Given the description of an element on the screen output the (x, y) to click on. 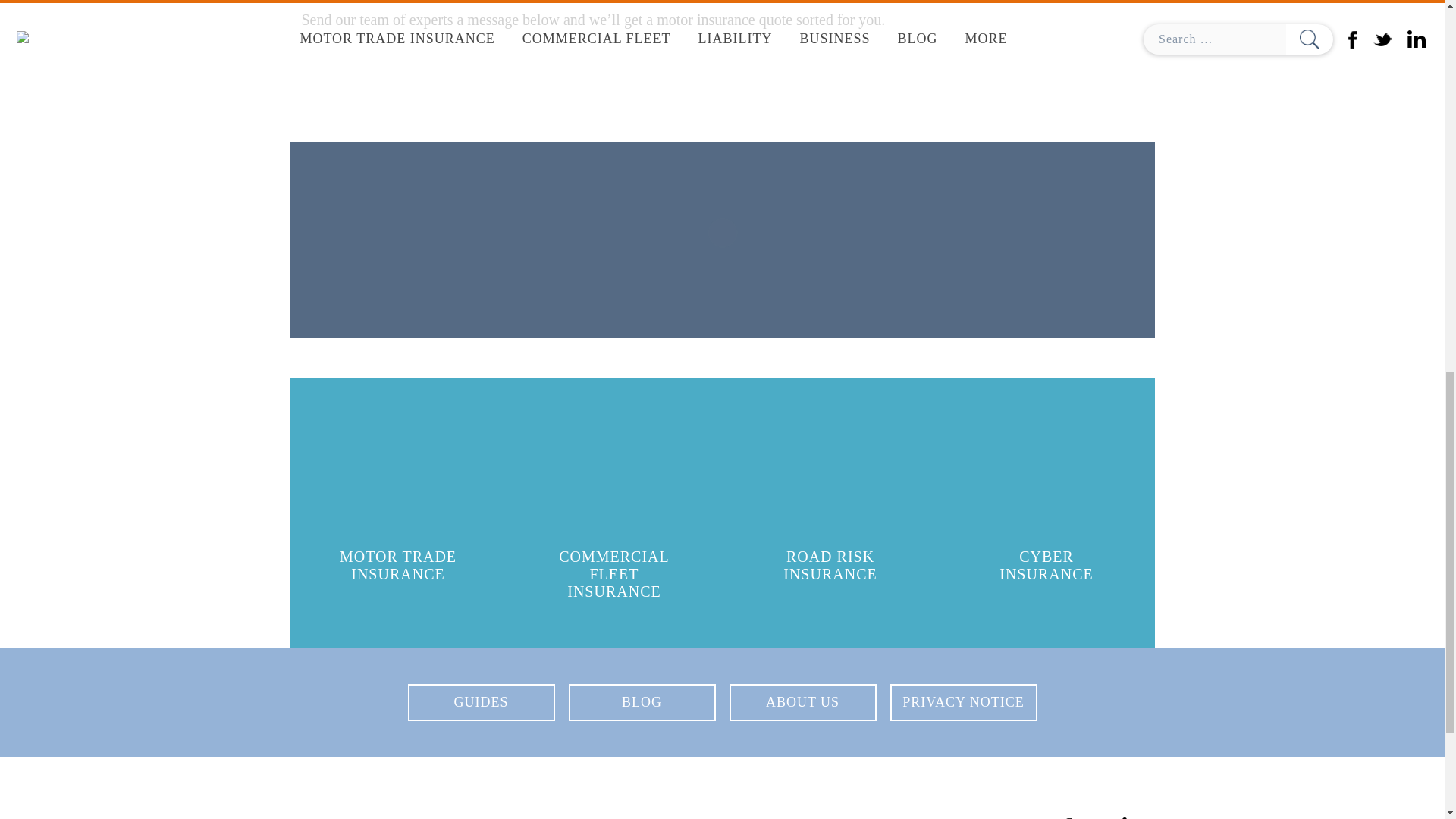
Tradesure Insurance (415, 794)
